Given the description of an element on the screen output the (x, y) to click on. 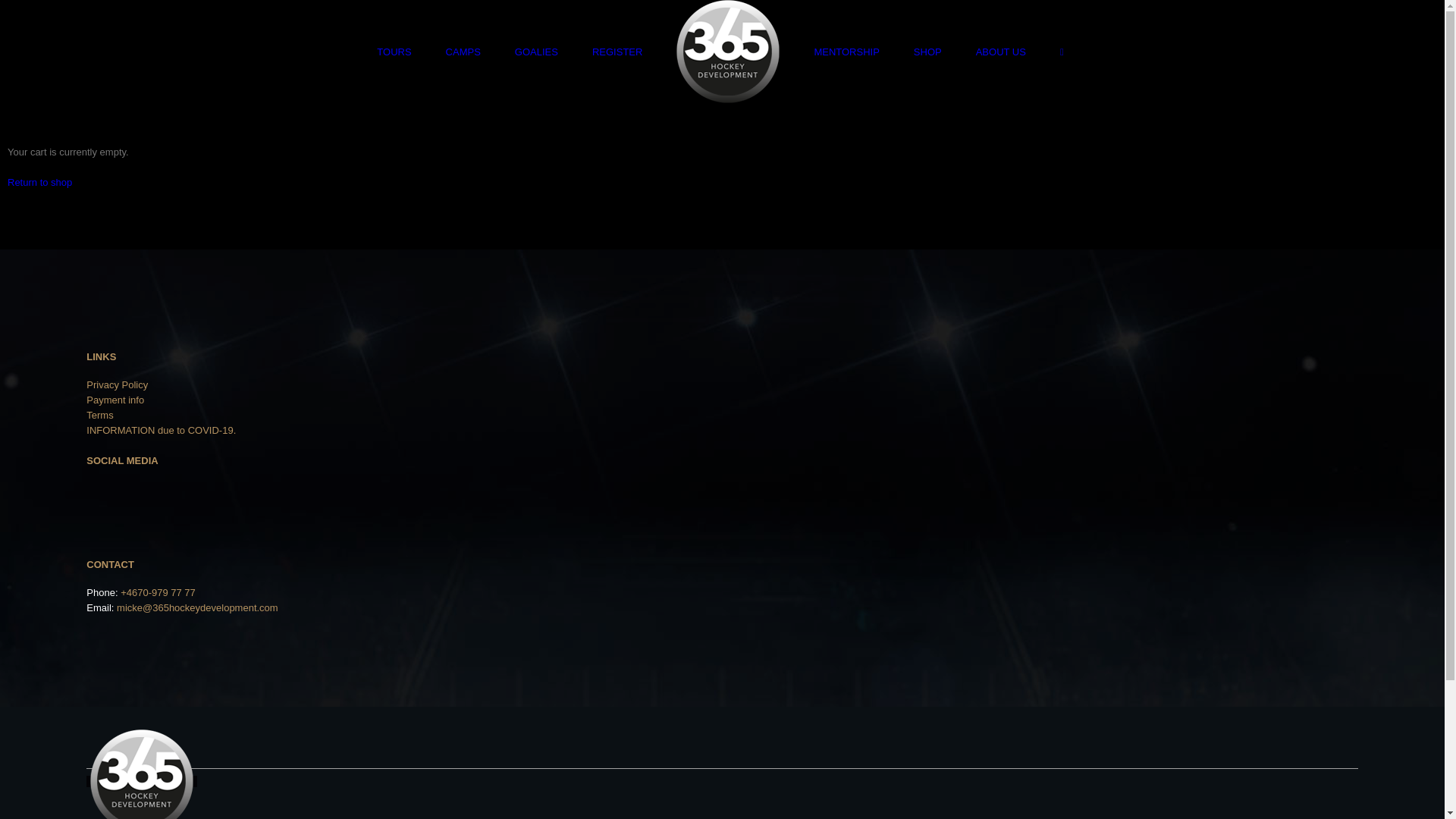
TOURS Element type: text (393, 51)
Privacy Policy Element type: text (116, 384)
INFORMATION due to COVID-19. Element type: text (160, 430)
ABOUT US Element type: text (1000, 51)
Return to shop Element type: text (39, 182)
micke@365hockeydevelopment.com Element type: text (197, 607)
MENTORSHIP Element type: text (845, 51)
Payment info Element type: text (115, 399)
Terms Element type: text (99, 414)
SHOP Element type: text (927, 51)
+4670-979 77 77 Element type: text (157, 592)
REGISTER Element type: text (617, 51)
GOALIES Element type: text (536, 51)
CAMPS Element type: text (462, 51)
